Given the description of an element on the screen output the (x, y) to click on. 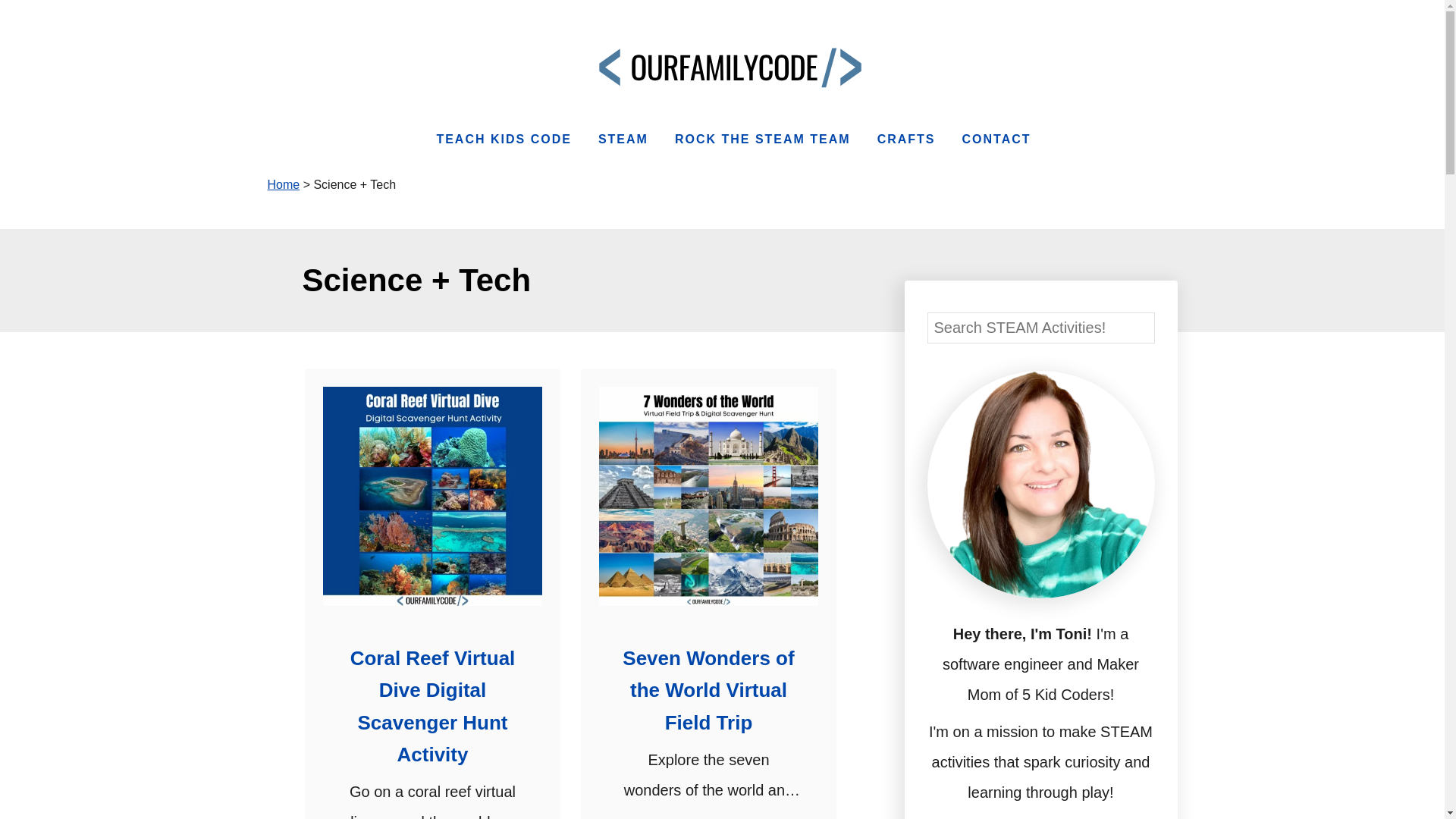
CRAFTS (906, 139)
STEAM (623, 139)
TEACH KIDS CODE (503, 139)
Seven Wonders of the World Virtual Field Trip (708, 690)
Coral Reef Virtual Dive Digital Scavenger Hunt Activity (432, 706)
Coral Reef Virtual Dive Digital Scavenger Hunt Activity (432, 496)
Home (282, 184)
Our Family Code (729, 64)
Seven Wonders of the World Virtual Field Trip (708, 496)
CONTACT (997, 139)
ROCK THE STEAM TEAM (762, 139)
